Given the description of an element on the screen output the (x, y) to click on. 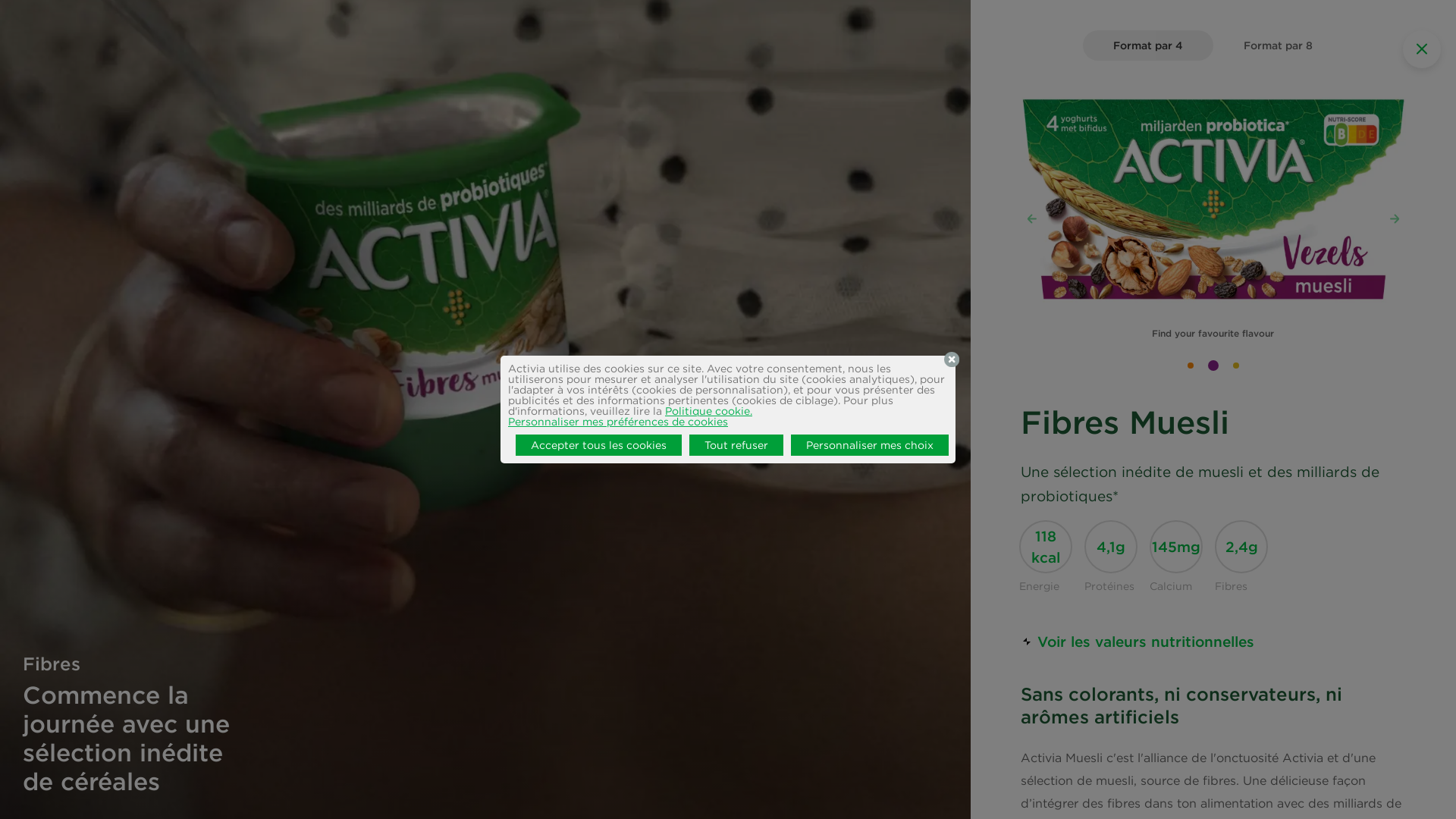
Personnaliser mes choix Element type: text (868, 444)
Fibres Muesli Element type: text (1212, 365)
Accepter tous les cookies Element type: text (598, 444)
Voir les valeurs nutritionnelles Element type: text (1137, 641)
Fibres Noisette-Quinoa Element type: text (1190, 365)
Politique cookie. Element type: text (708, 410)
Tout refuser Element type: text (735, 444)
Format par 4 Element type: text (1147, 45)
Format par 8 Element type: text (1278, 45)
